Given the description of an element on the screen output the (x, y) to click on. 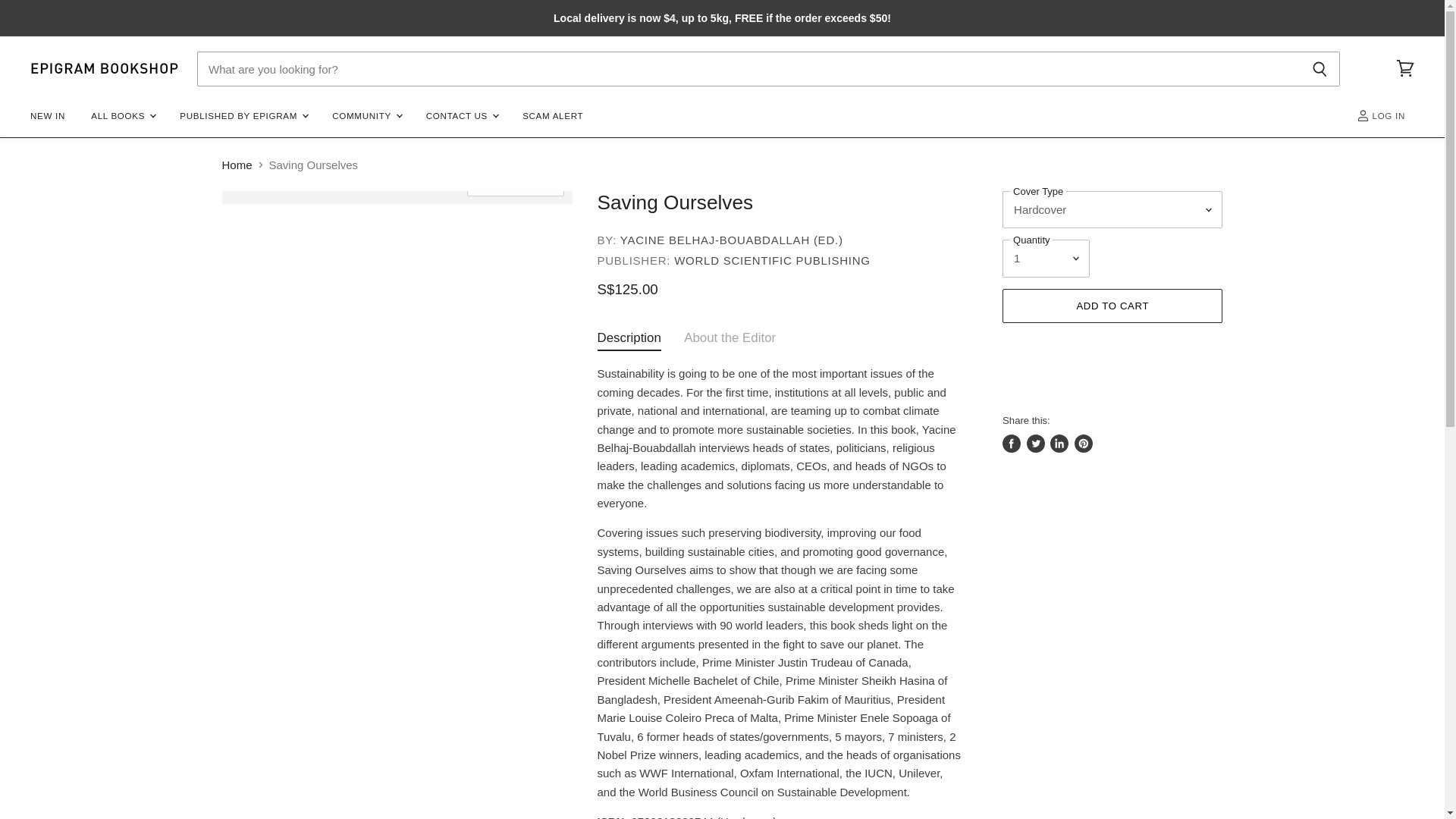
View cart (1405, 68)
NEW IN (47, 115)
ALL BOOKS (122, 115)
ACCOUNT ICON (1363, 115)
